Given the description of an element on the screen output the (x, y) to click on. 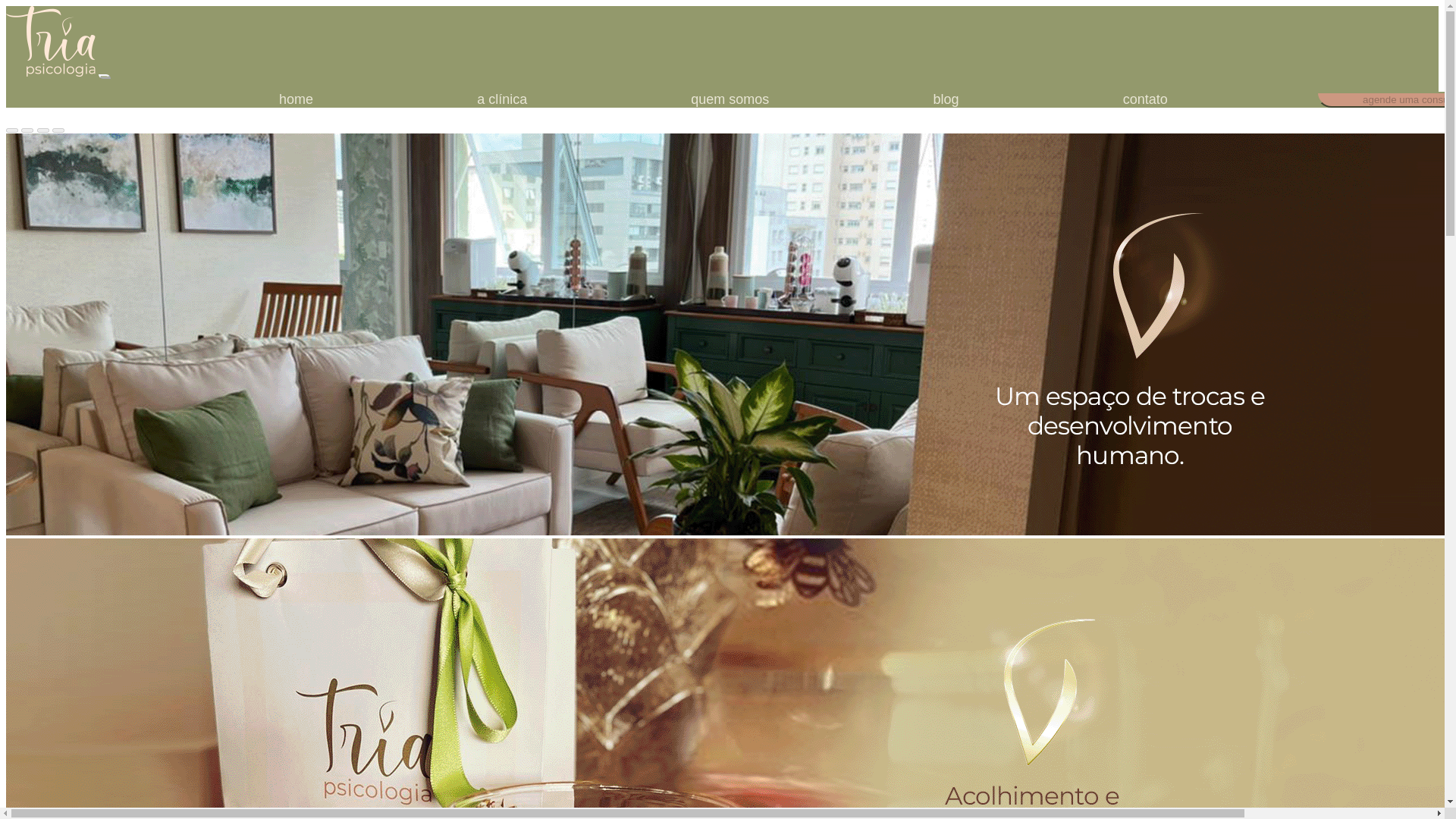
blog (945, 99)
contato (1144, 99)
home (296, 99)
quem somos (729, 99)
agende uma consulta (1386, 99)
